Given the description of an element on the screen output the (x, y) to click on. 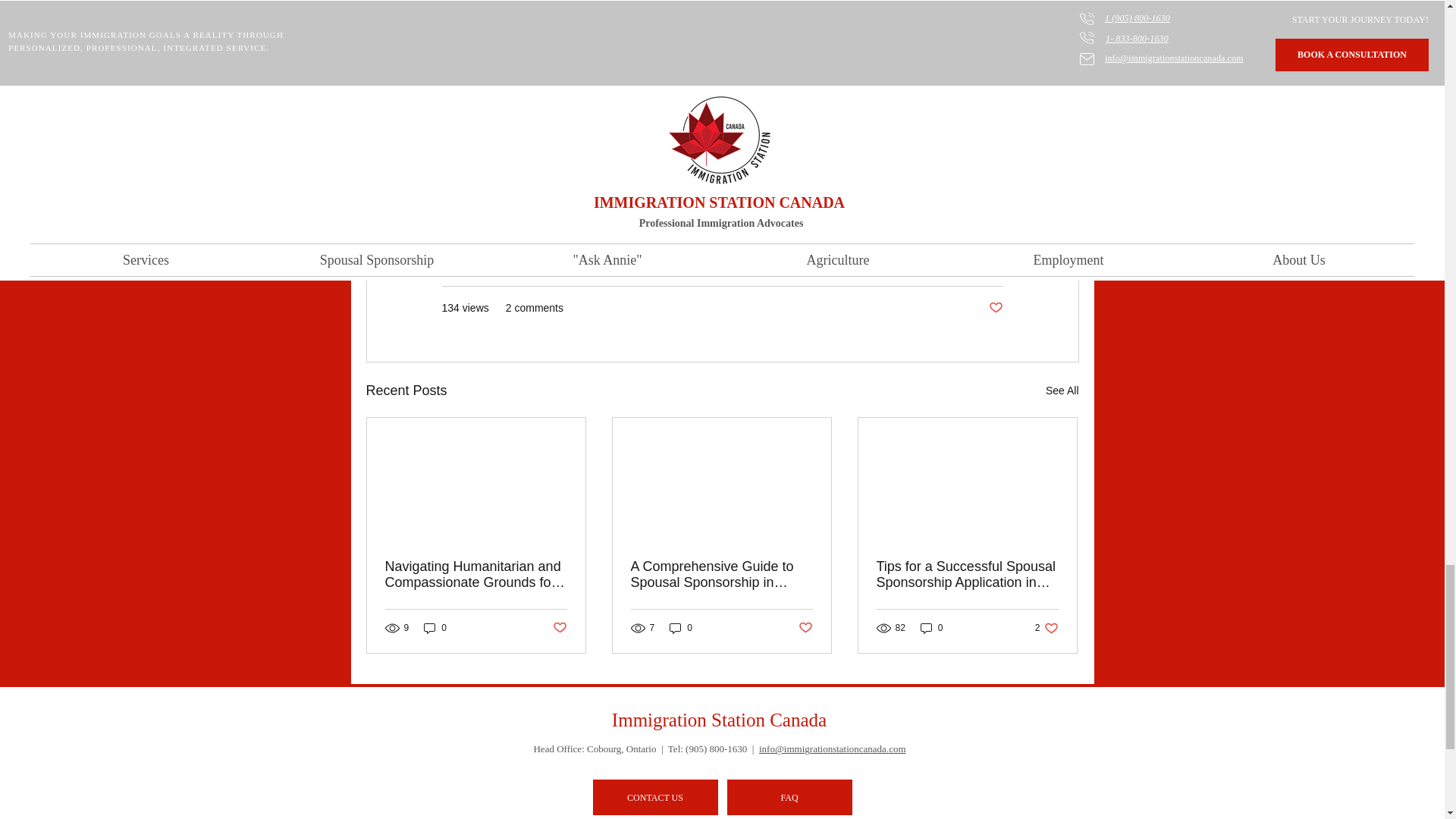
Post not marked as liked (995, 308)
See All (1061, 391)
0 (435, 627)
Family Sponsorship (956, 263)
